Given the description of an element on the screen output the (x, y) to click on. 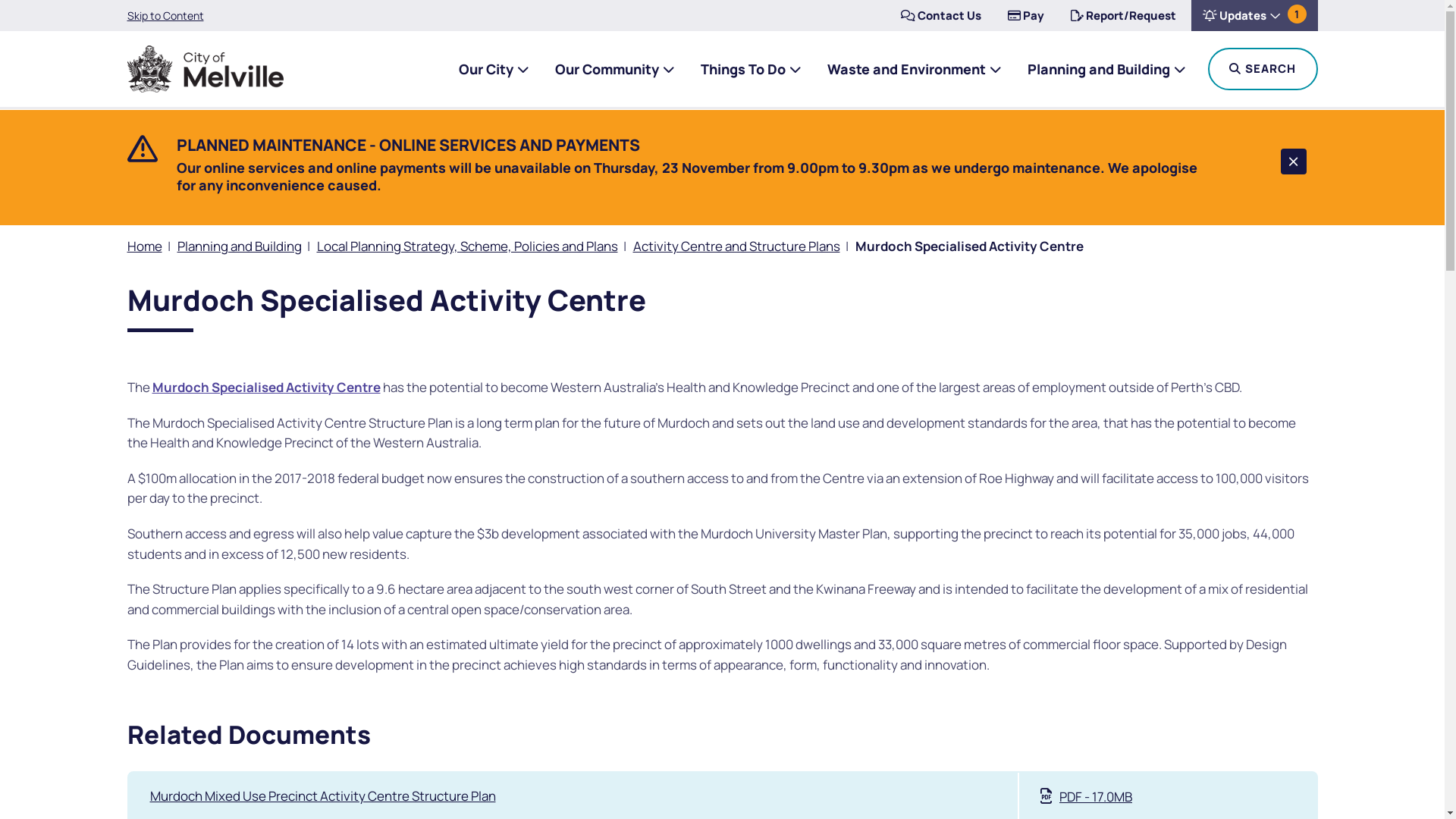
PDF - 17.0MB Element type: text (1086, 796)
Murdoch Specialised Activity Centre Element type: text (265, 386)
Waste and Environment Element type: text (913, 68)
Our Community Element type: text (614, 68)
Our City Element type: text (492, 68)
Planning and Building Element type: text (239, 246)
Murdoch Mixed Use Precinct Activity Centre Structure Plan Element type: text (322, 795)
SEARCH Element type: text (1262, 68)
Home Element type: text (144, 246)
Pay Element type: text (1025, 15)
Skip to Content Element type: text (165, 15)
Things To Do Element type: text (750, 68)
Report/Request Element type: text (1122, 15)
Activity Centre and Structure Plans Element type: text (735, 246)
Contact Us Element type: text (939, 15)
Local Planning Strategy, Scheme, Policies and Plans Element type: text (467, 246)
Updates Element type: text (1253, 15)
Planning and Building Element type: text (1105, 68)
